Given the description of an element on the screen output the (x, y) to click on. 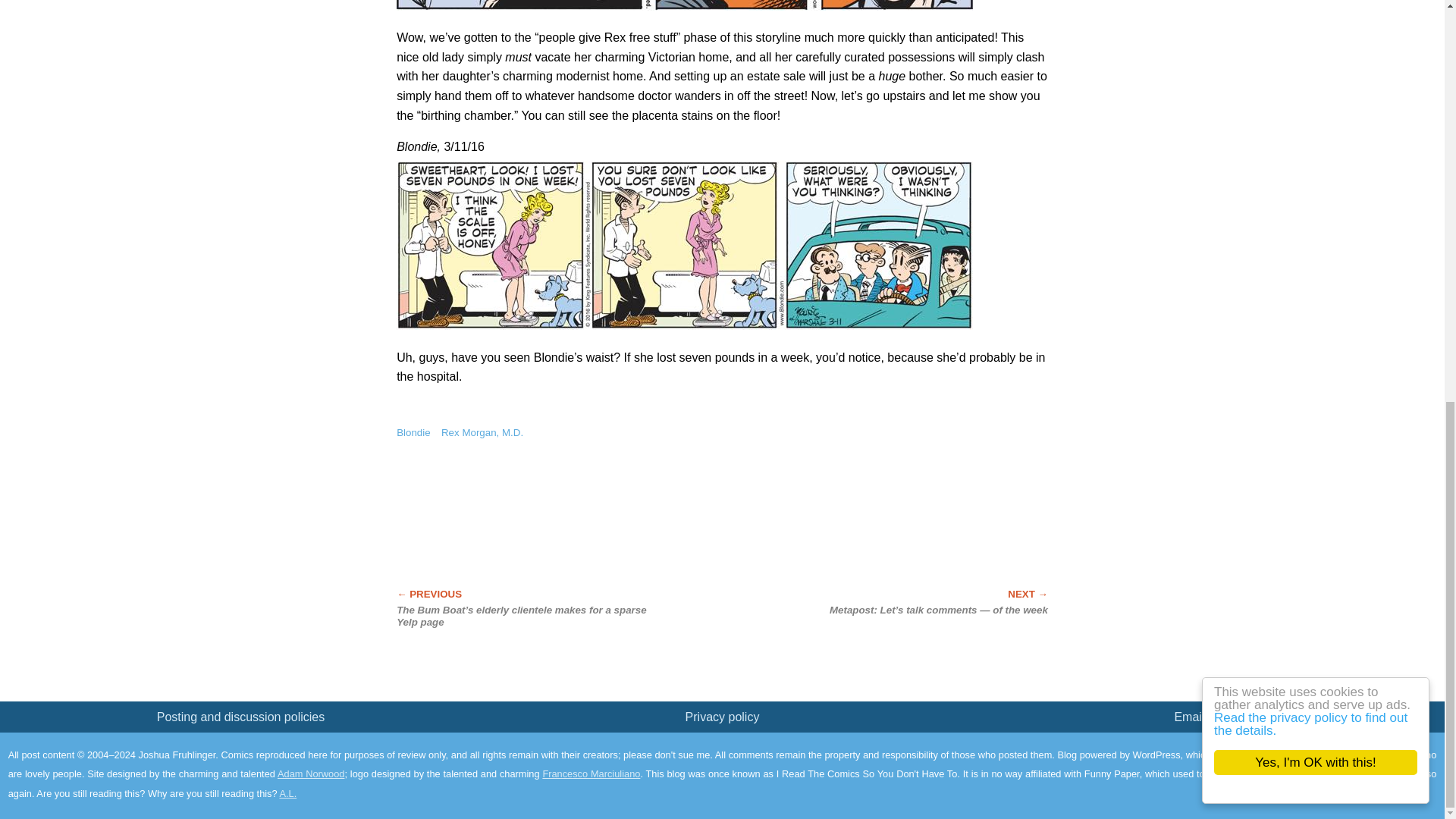
Posting and discussion policies (240, 716)
Adam Norwood (310, 773)
Blondie (412, 432)
Rex Morgan, M.D. (481, 432)
Email Josh (1203, 716)
Privacy policy (722, 716)
Digital Ocean (1384, 754)
A.L. (288, 793)
Francesco Marciuliano (590, 773)
